Given the description of an element on the screen output the (x, y) to click on. 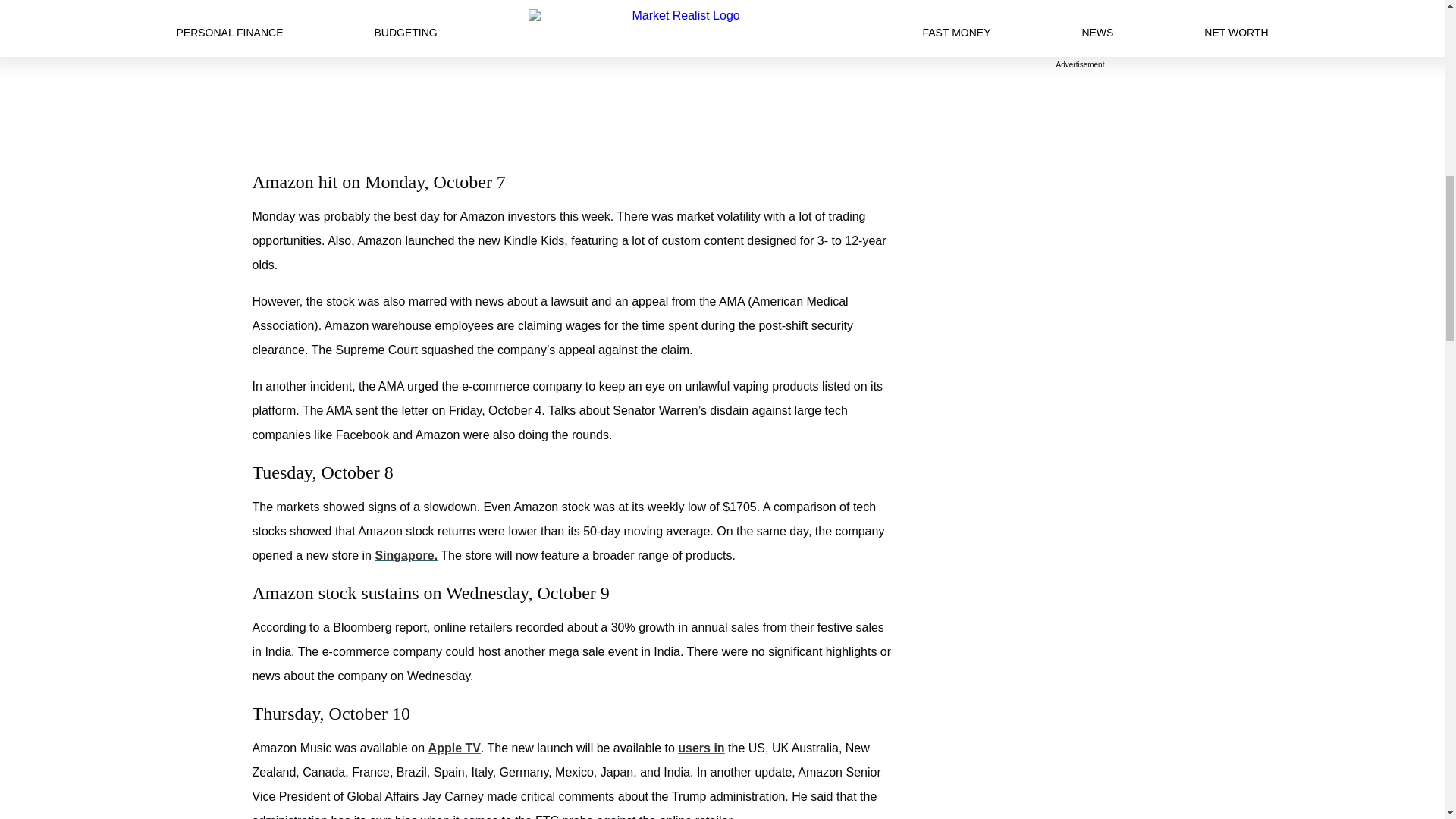
users in (700, 748)
Apple TV (454, 748)
Singapore. (406, 554)
